Given the description of an element on the screen output the (x, y) to click on. 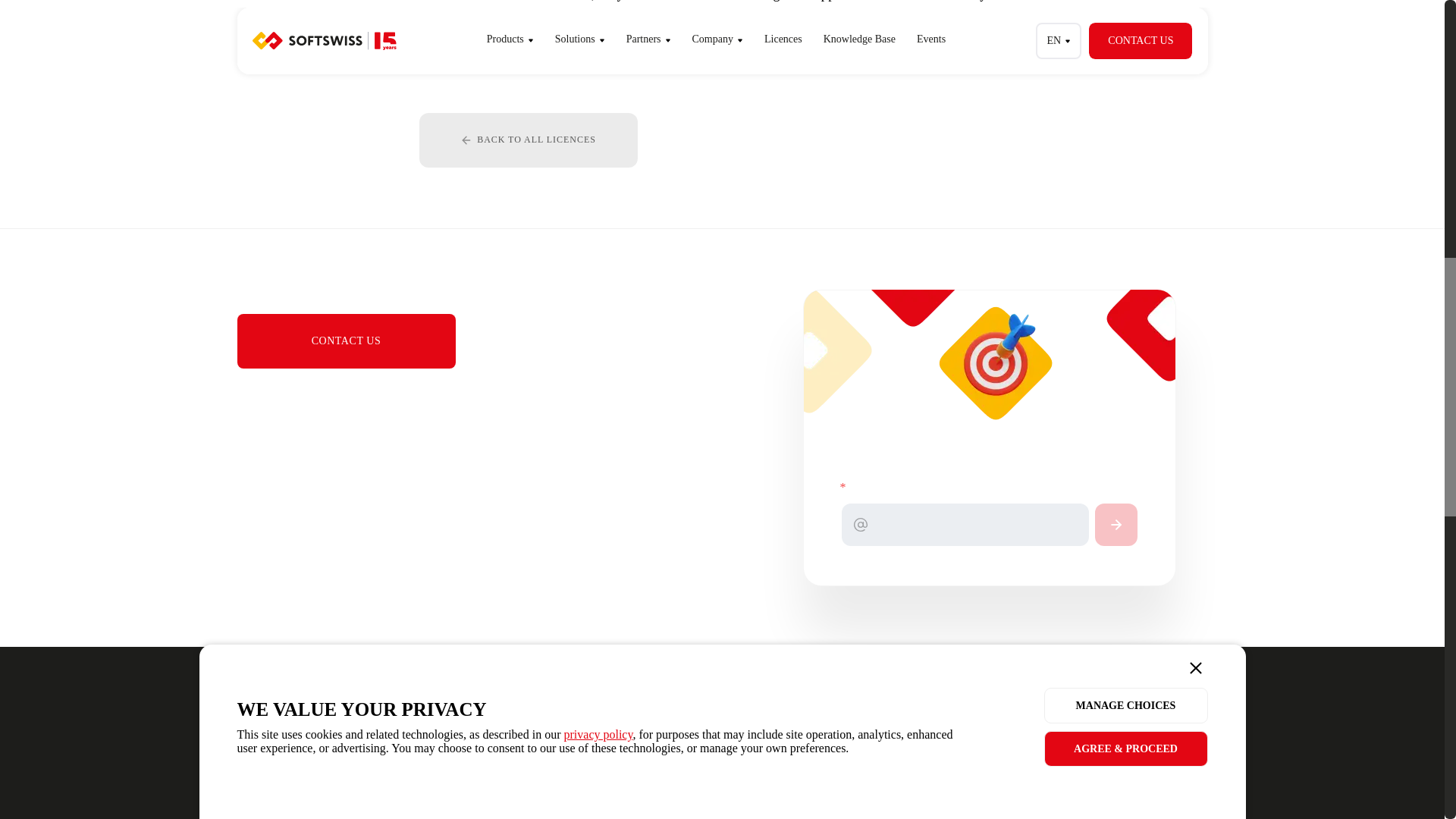
Let's talk (478, 769)
BACK TO ALL LICENCES (528, 140)
CONTACT US (344, 340)
